Given the description of an element on the screen output the (x, y) to click on. 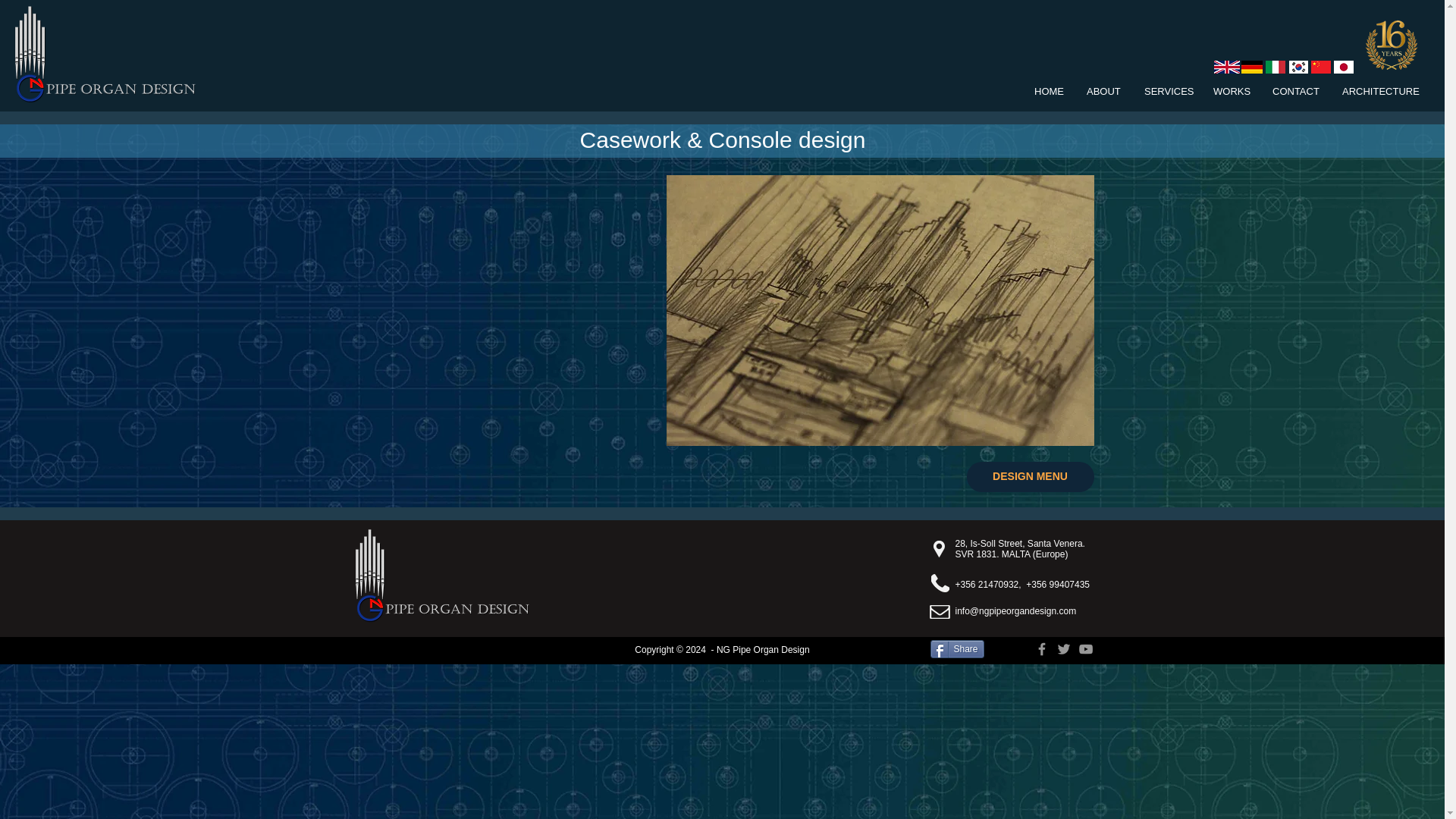
ARCHITECTURE (1379, 91)
SERVICES (1167, 91)
CONTACT (1295, 91)
ABOUT (1103, 91)
DESIGN MENU (1029, 476)
HOME (1049, 91)
WORKS (1231, 91)
Share (957, 648)
15years.png (1391, 44)
Share (957, 648)
